Given the description of an element on the screen output the (x, y) to click on. 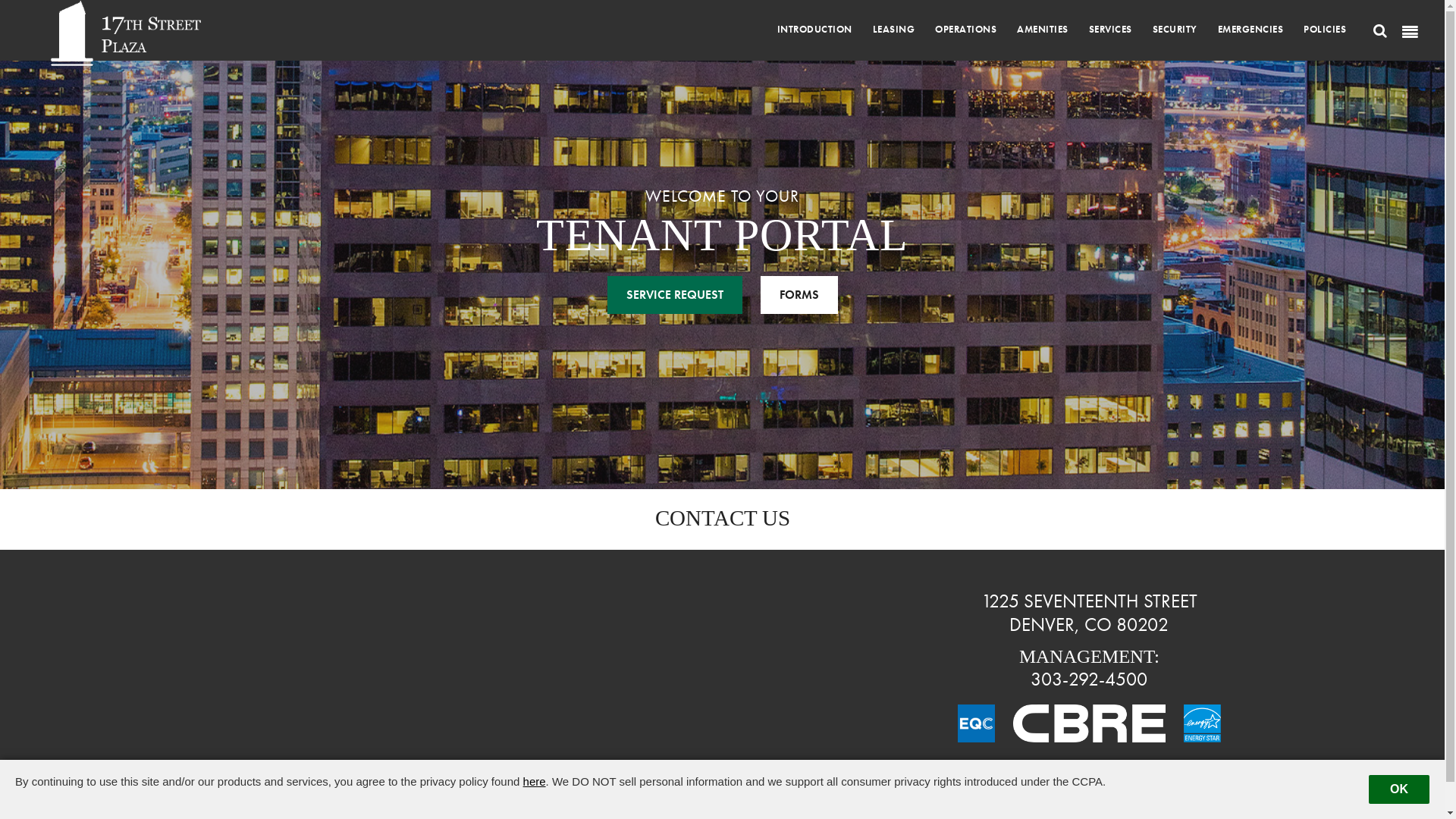
AMENITIES Element type: text (1042, 28)
INTRODUCTION Element type: text (813, 28)
SERVICE REQUEST Element type: text (673, 294)
SERVICES Element type: text (1110, 28)
POLICIES Element type: text (1324, 28)
OPERATIONS Element type: text (965, 28)
map Element type: hover (355, 664)
303-292-4500 Element type: text (1088, 678)
LEASING Element type: text (893, 28)
here Element type: text (534, 781)
EMERGENCIES Element type: text (1250, 28)
FORMS Element type: text (798, 294)
1225 SEVENTEENTH STREET
DENVER, CO 80202 Element type: text (1089, 612)
SECURITY Element type: text (1174, 28)
